Given the description of an element on the screen output the (x, y) to click on. 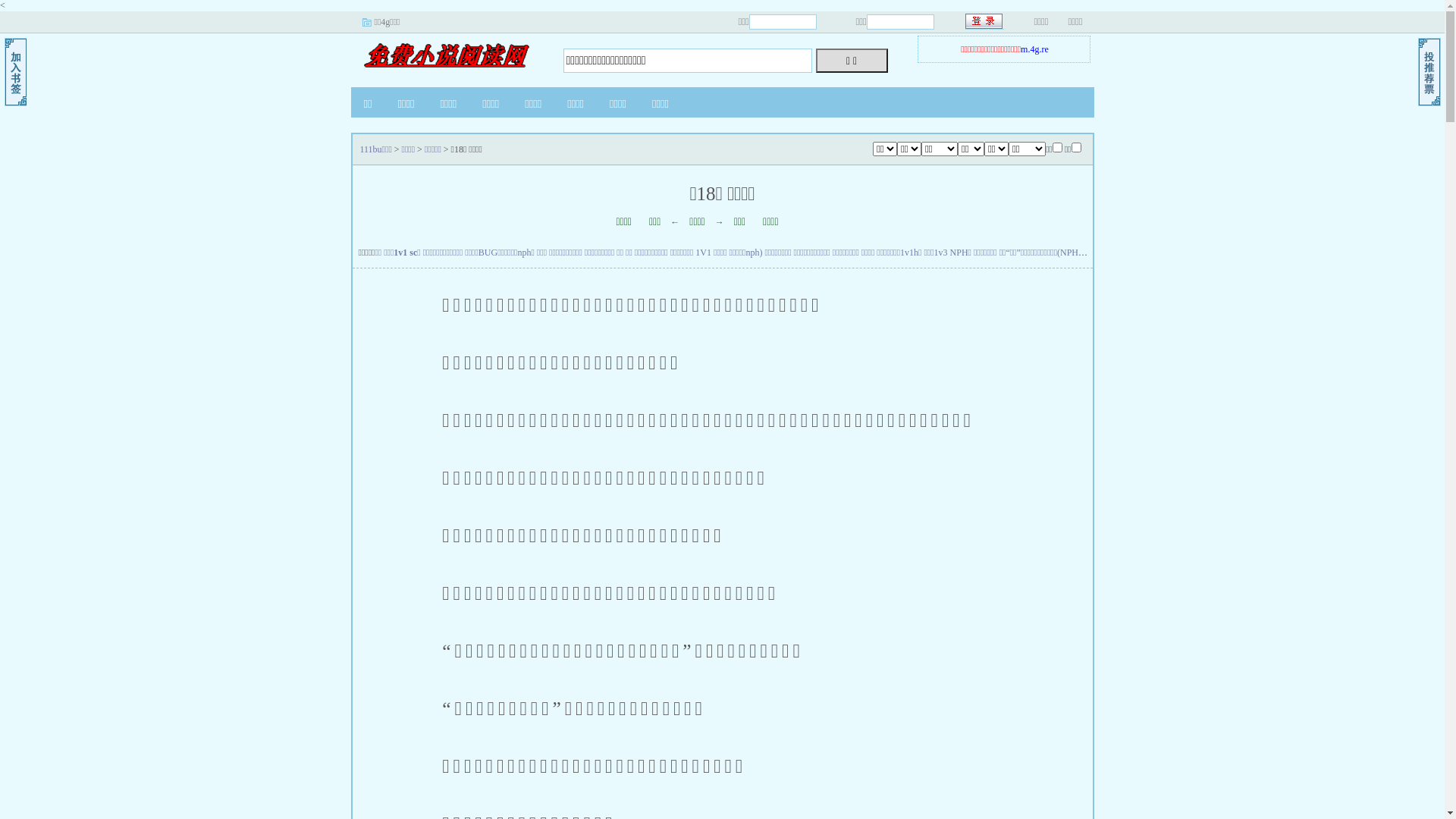
m.4g.re Element type: text (1034, 48)
  Element type: text (983, 21)
